Given the description of an element on the screen output the (x, y) to click on. 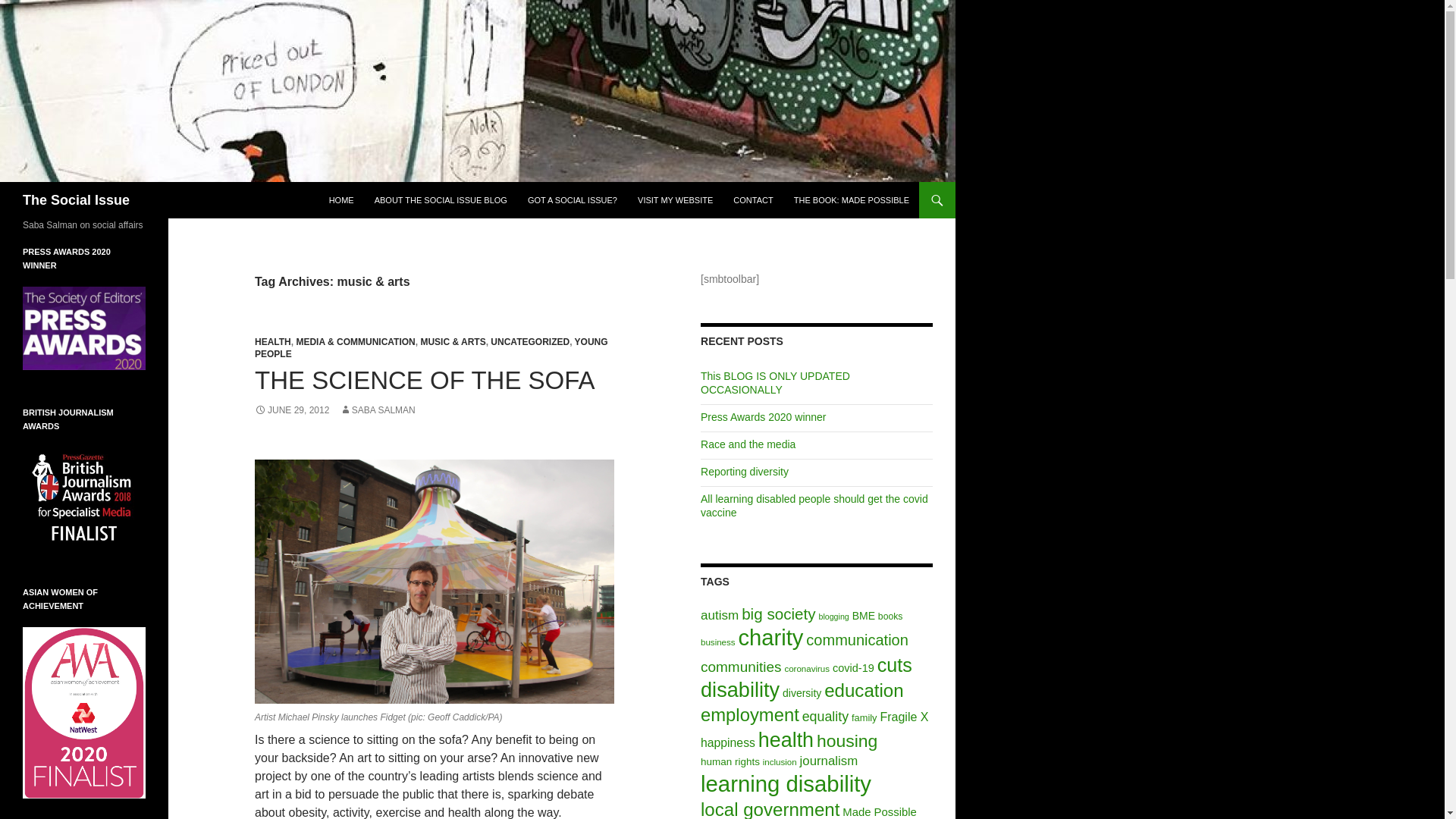
THE BOOK: MADE POSSIBLE (851, 199)
JUNE 29, 2012 (291, 409)
CONTACT (752, 199)
books (889, 615)
blogging (833, 615)
THE SCIENCE OF THE SOFA (424, 379)
Race and the media (747, 444)
VISIT MY WEBSITE (675, 199)
SABA SALMAN (376, 409)
Reporting diversity (744, 471)
big society (778, 613)
HOME (341, 199)
UNCATEGORIZED (529, 341)
Pinsky (434, 581)
autism (719, 615)
